Given the description of an element on the screen output the (x, y) to click on. 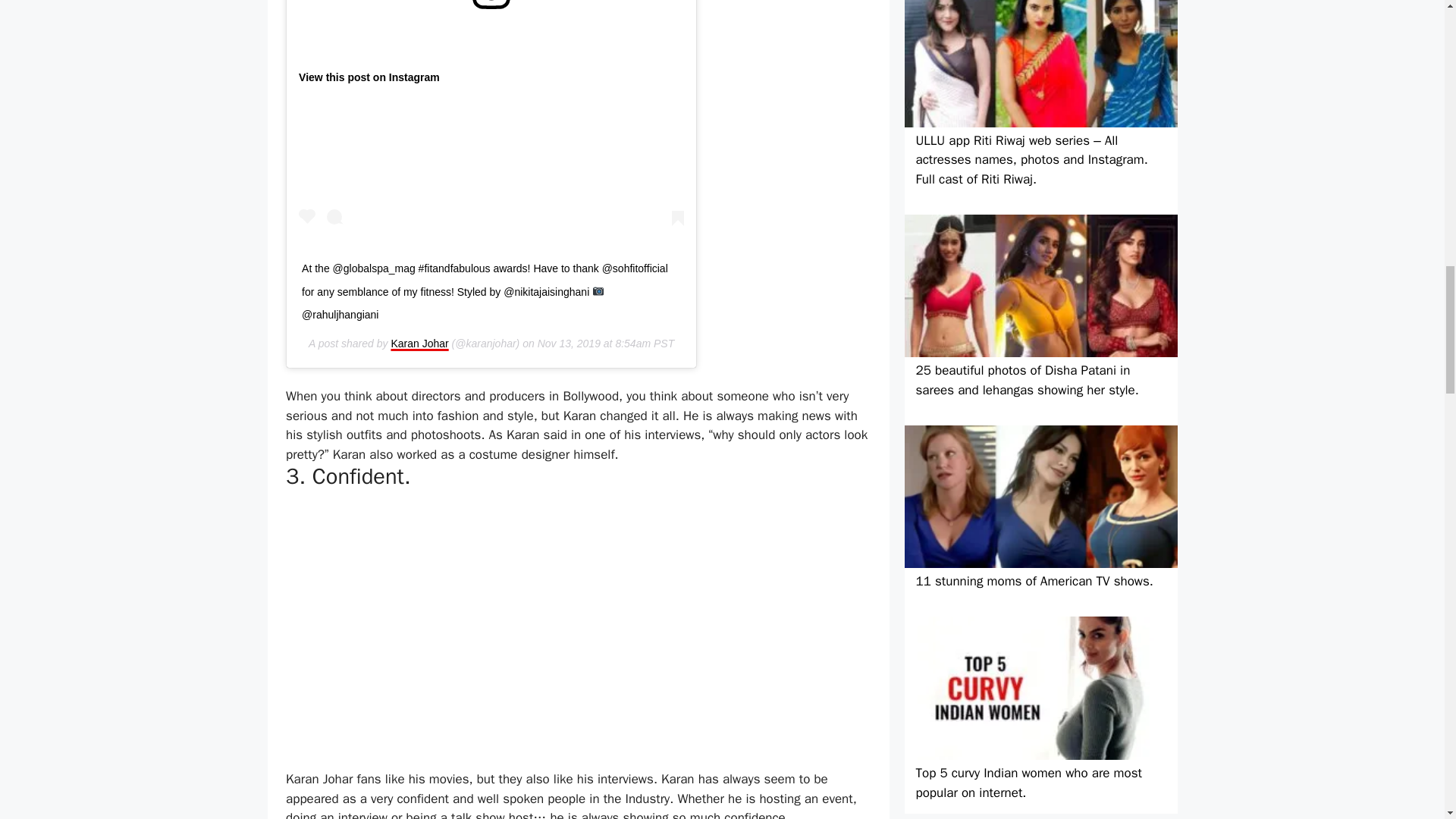
Karan Johar (419, 343)
View this post on Instagram (368, 77)
